Given the description of an element on the screen output the (x, y) to click on. 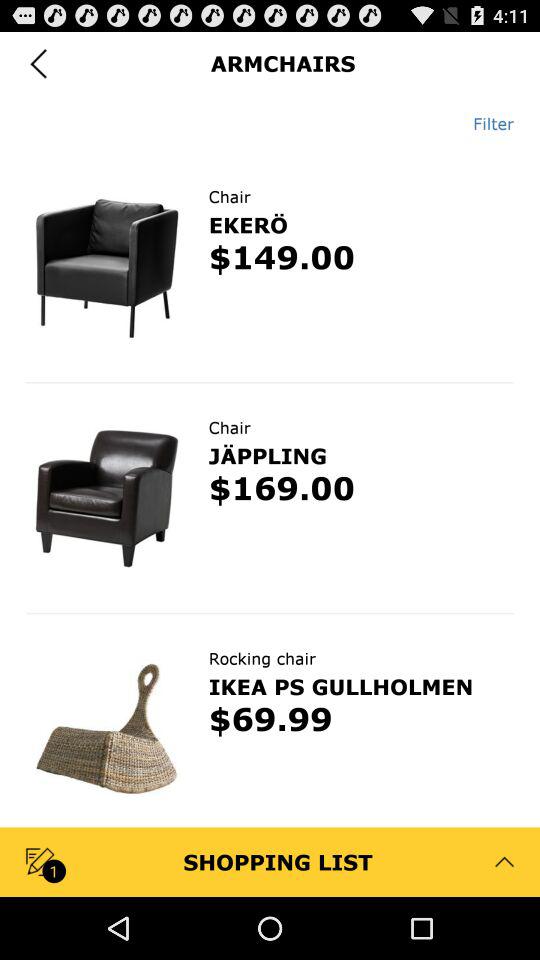
turn off icon above the $169.00 app (267, 455)
